Given the description of an element on the screen output the (x, y) to click on. 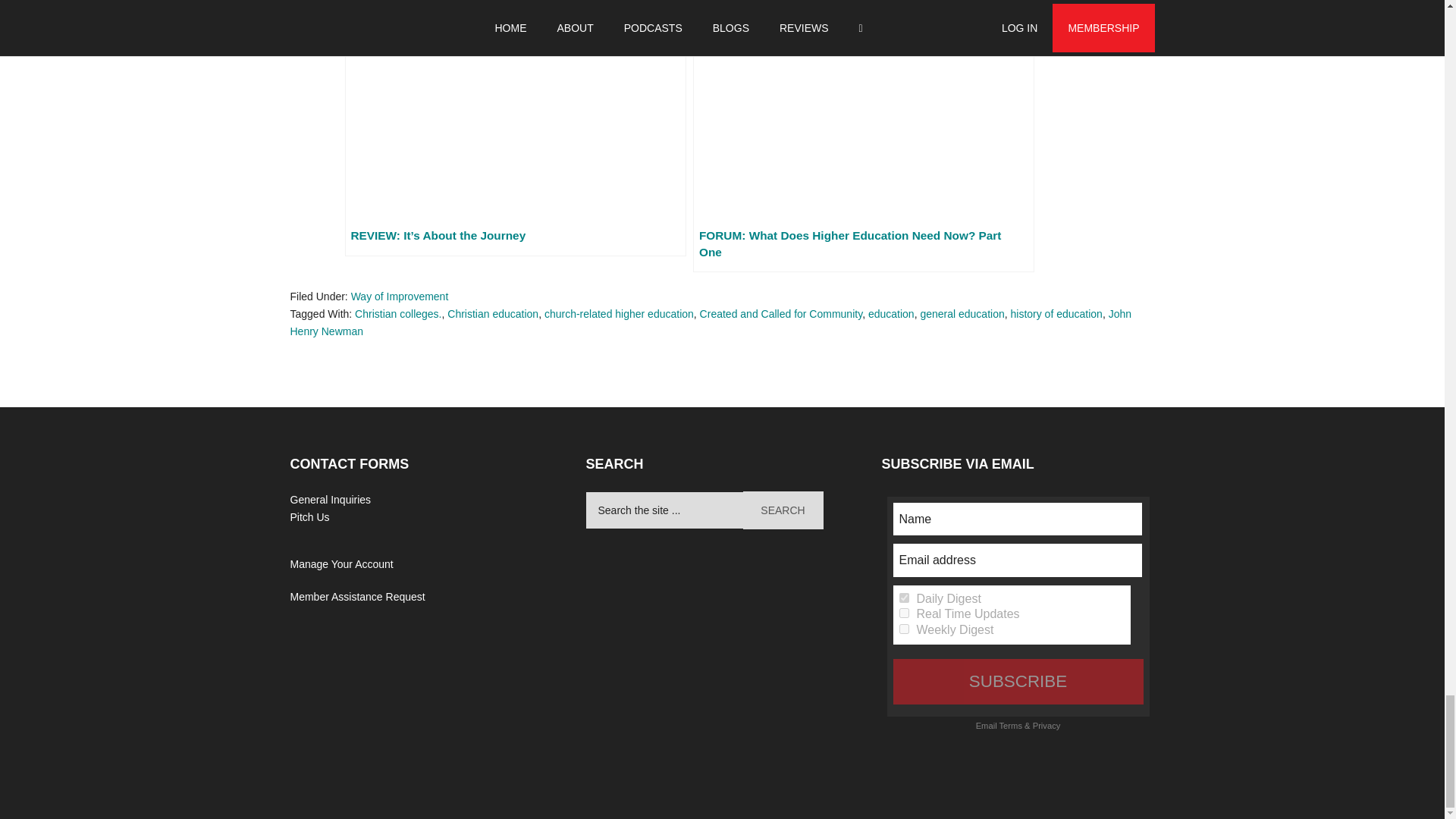
FORUM: What Does Higher Education Need Now? Part One (863, 136)
1122538 (903, 613)
Frequency (903, 597)
Name (1017, 518)
Search (783, 510)
Search (783, 510)
Christian colleges. (398, 313)
Email subscriptions privacy policy (1046, 725)
1122535 (903, 597)
FORUM: What Does Higher Education Need Now? Part One (863, 136)
